Given the description of an element on the screen output the (x, y) to click on. 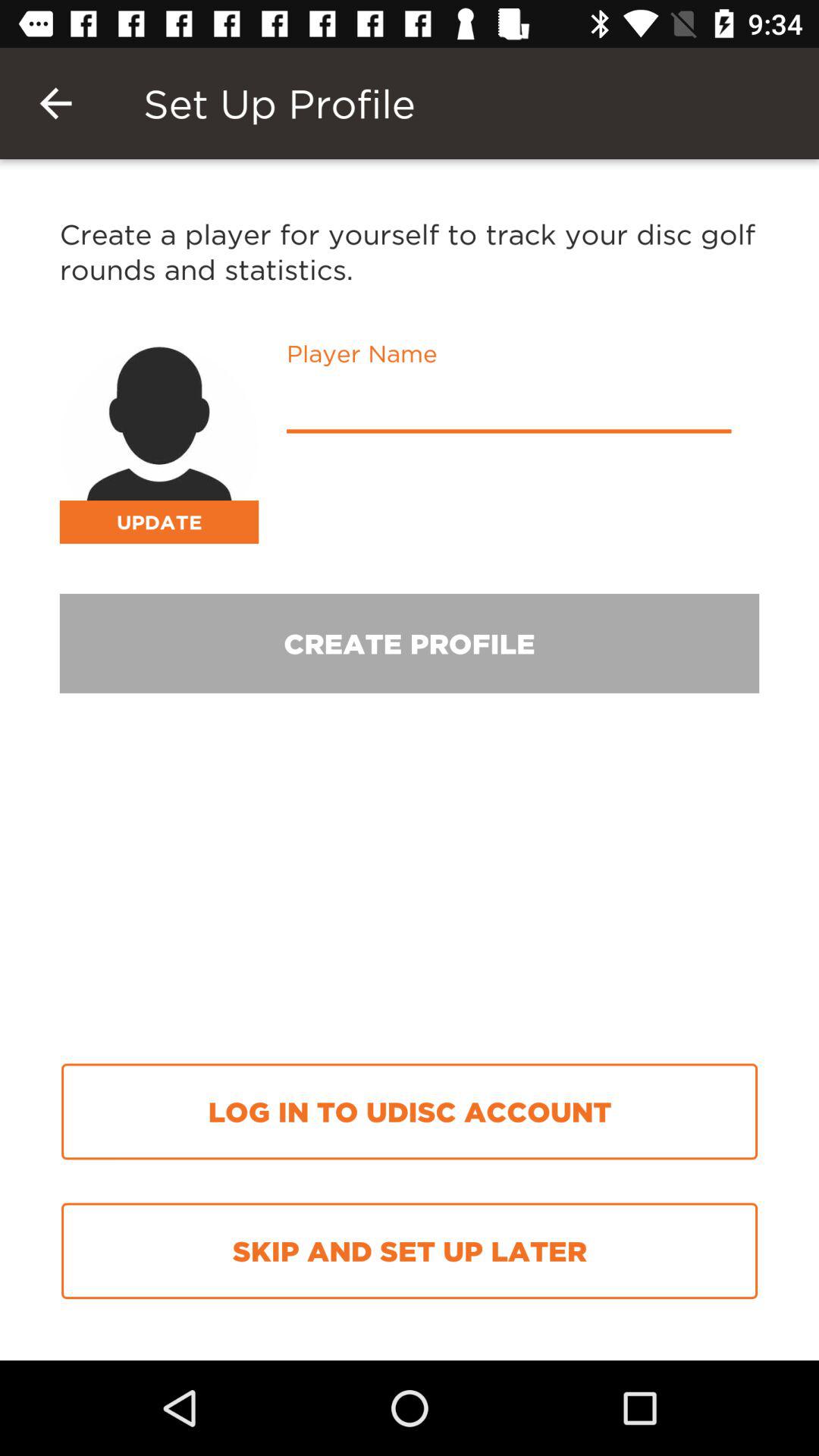
username text box (508, 406)
